Given the description of an element on the screen output the (x, y) to click on. 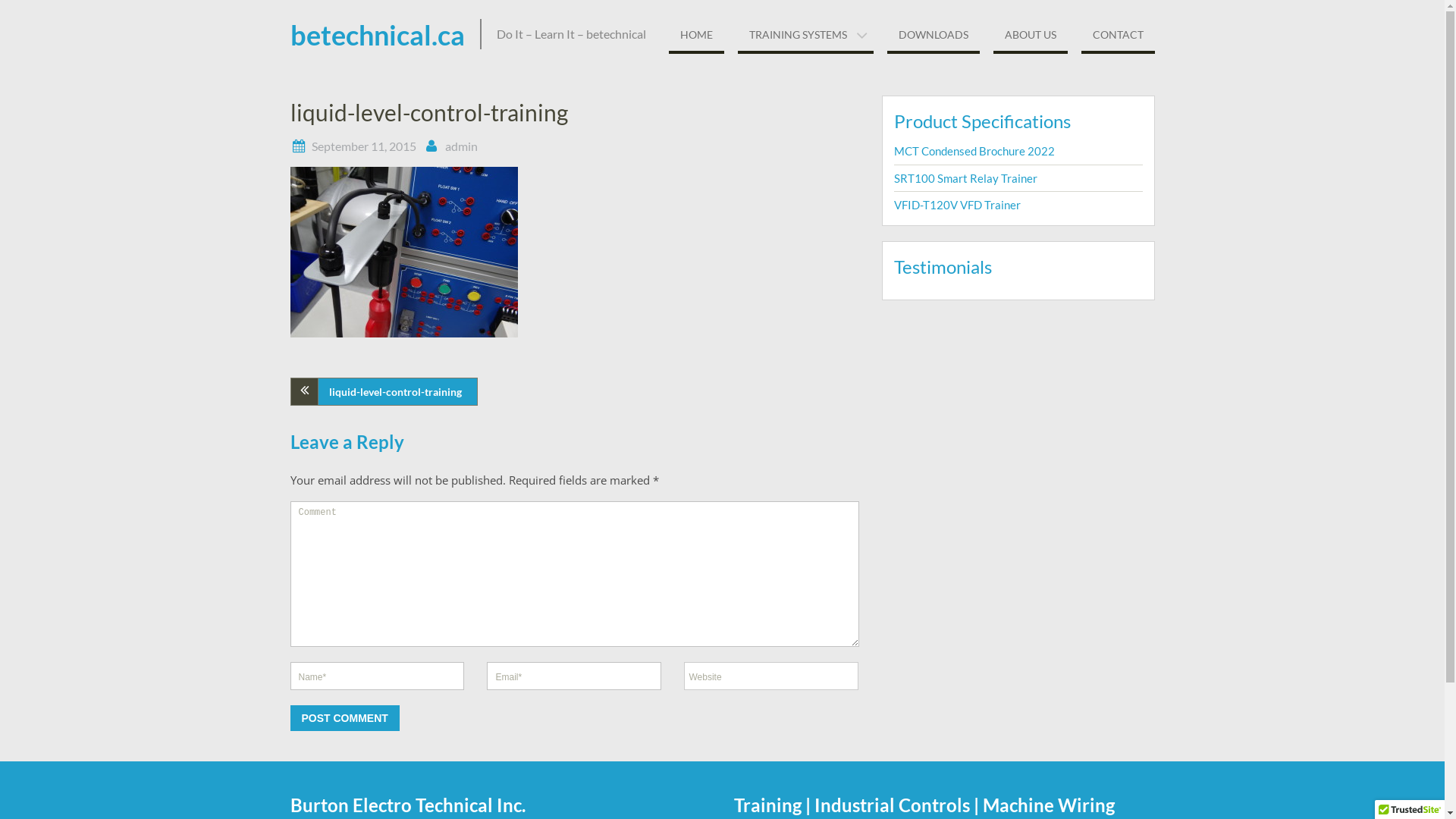
HOME Element type: text (696, 35)
Post Comment Element type: text (343, 718)
ABOUT US Element type: text (1030, 35)
DOWNLOADS Element type: text (933, 35)
SRT100 Smart Relay Trainer Element type: text (964, 178)
liquid-level-control-training Element type: text (382, 391)
TRAINING SYSTEMS Element type: text (804, 35)
September 11, 2015 Element type: text (362, 145)
MCT Condensed Brochure 2022 Element type: text (973, 150)
admin Element type: text (460, 145)
betechnical.ca Element type: text (376, 34)
VFID-T120V VFD Trainer Element type: text (956, 204)
CONTACT Element type: text (1117, 35)
